Given the description of an element on the screen output the (x, y) to click on. 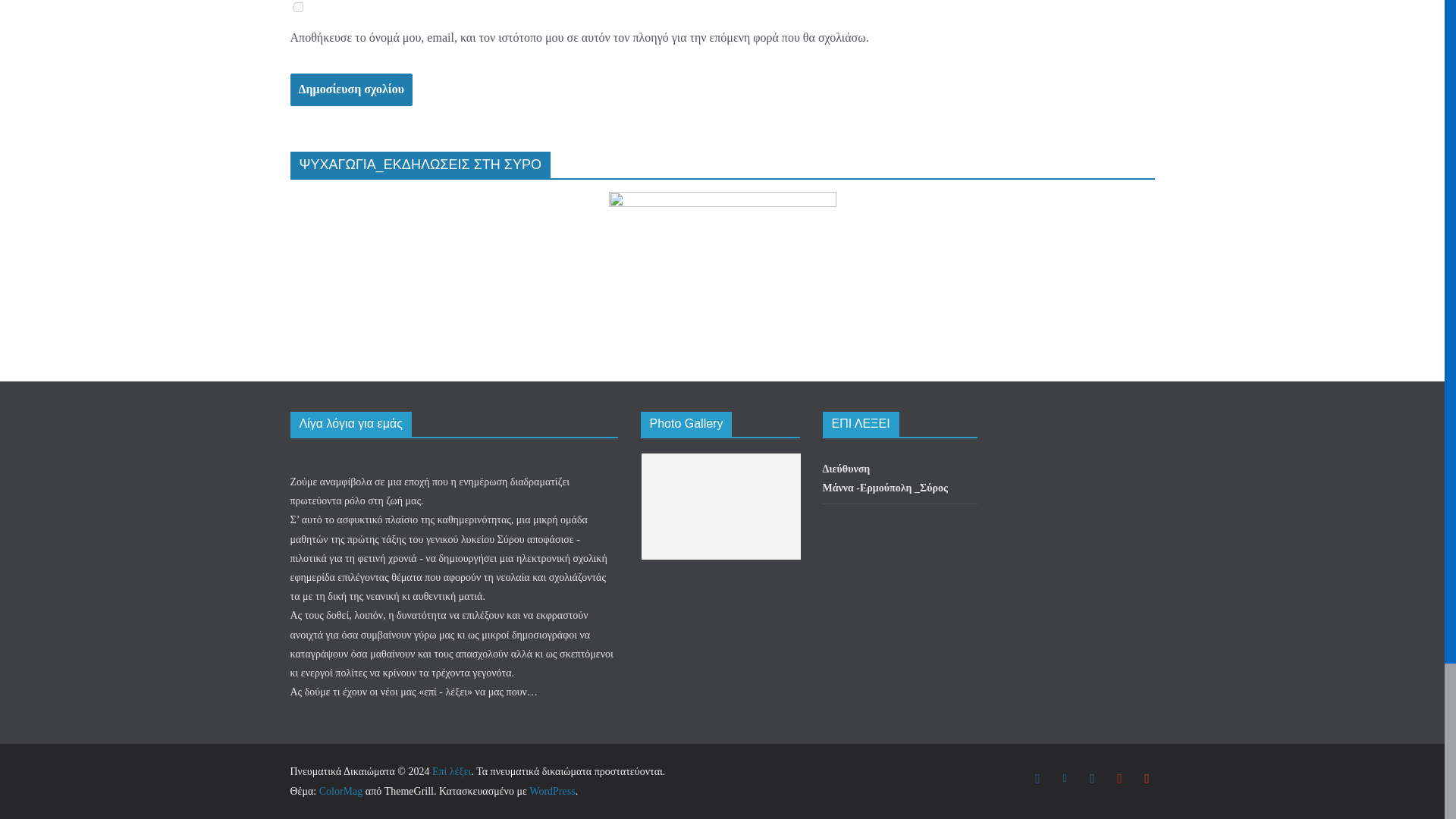
yes (297, 7)
